Given the description of an element on the screen output the (x, y) to click on. 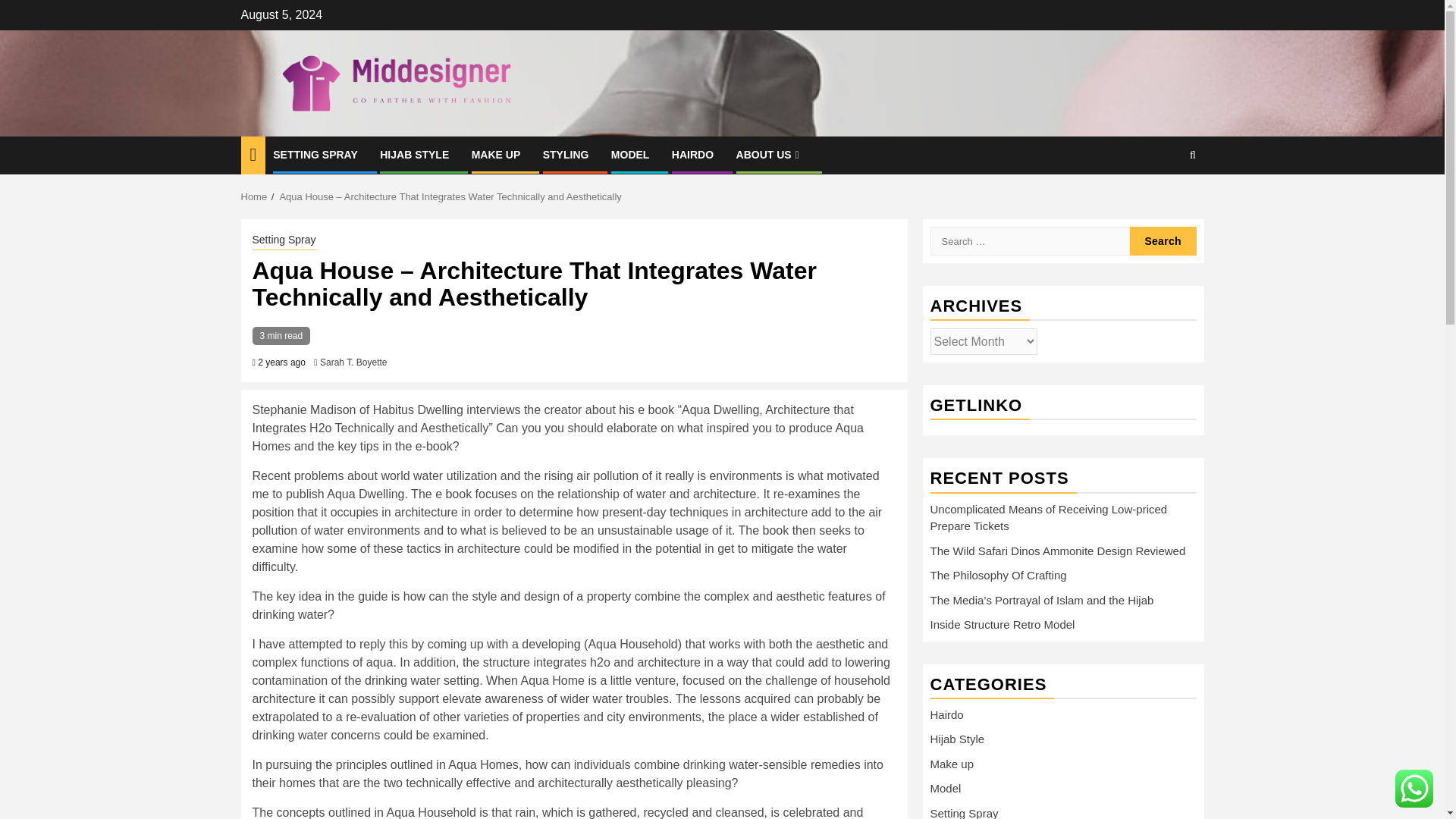
MODEL (630, 154)
ABOUT US (769, 154)
Sarah T. Boyette (353, 362)
MAKE UP (496, 154)
Search (1162, 240)
HIJAB STYLE (414, 154)
Home (254, 196)
Search (1162, 240)
Search (1162, 240)
Search (1163, 201)
HAIRDO (692, 154)
STYLING (566, 154)
SETTING SPRAY (315, 154)
Setting Spray (283, 240)
